Given the description of an element on the screen output the (x, y) to click on. 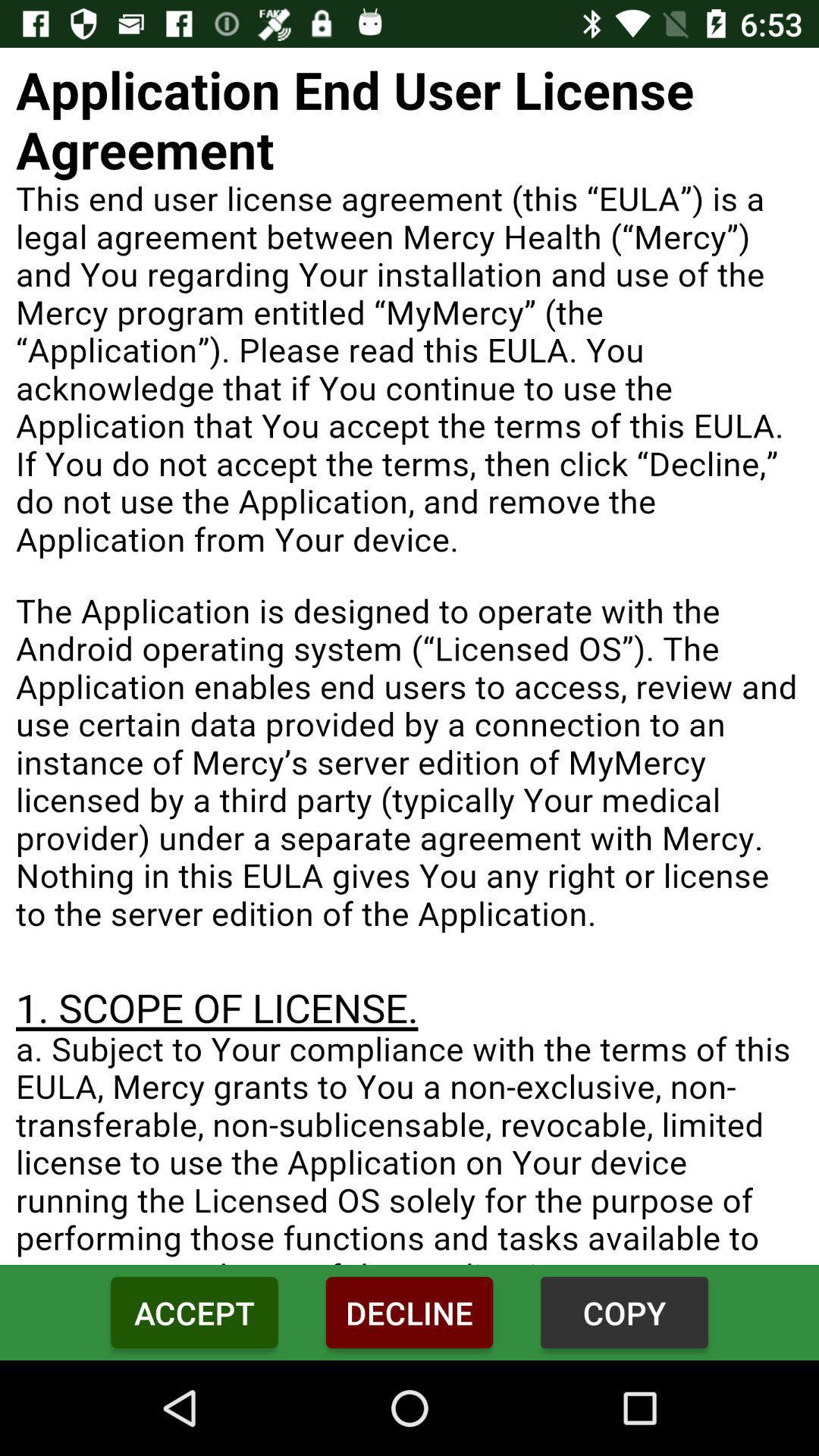
license agreement (409, 655)
